Given the description of an element on the screen output the (x, y) to click on. 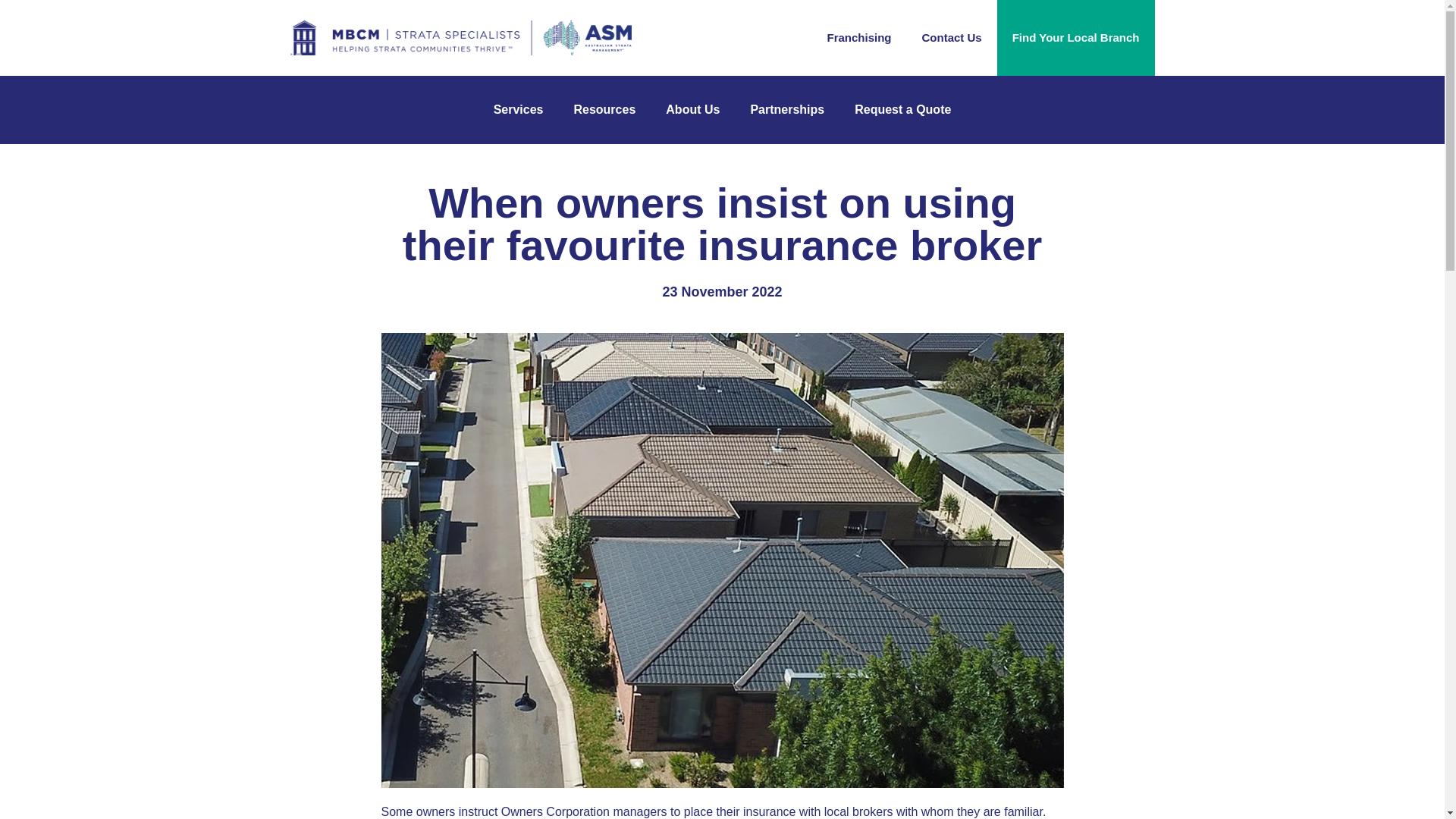
Contact Us (952, 38)
Franchising (857, 38)
Find Your Local Branch (1075, 38)
